Given the description of an element on the screen output the (x, y) to click on. 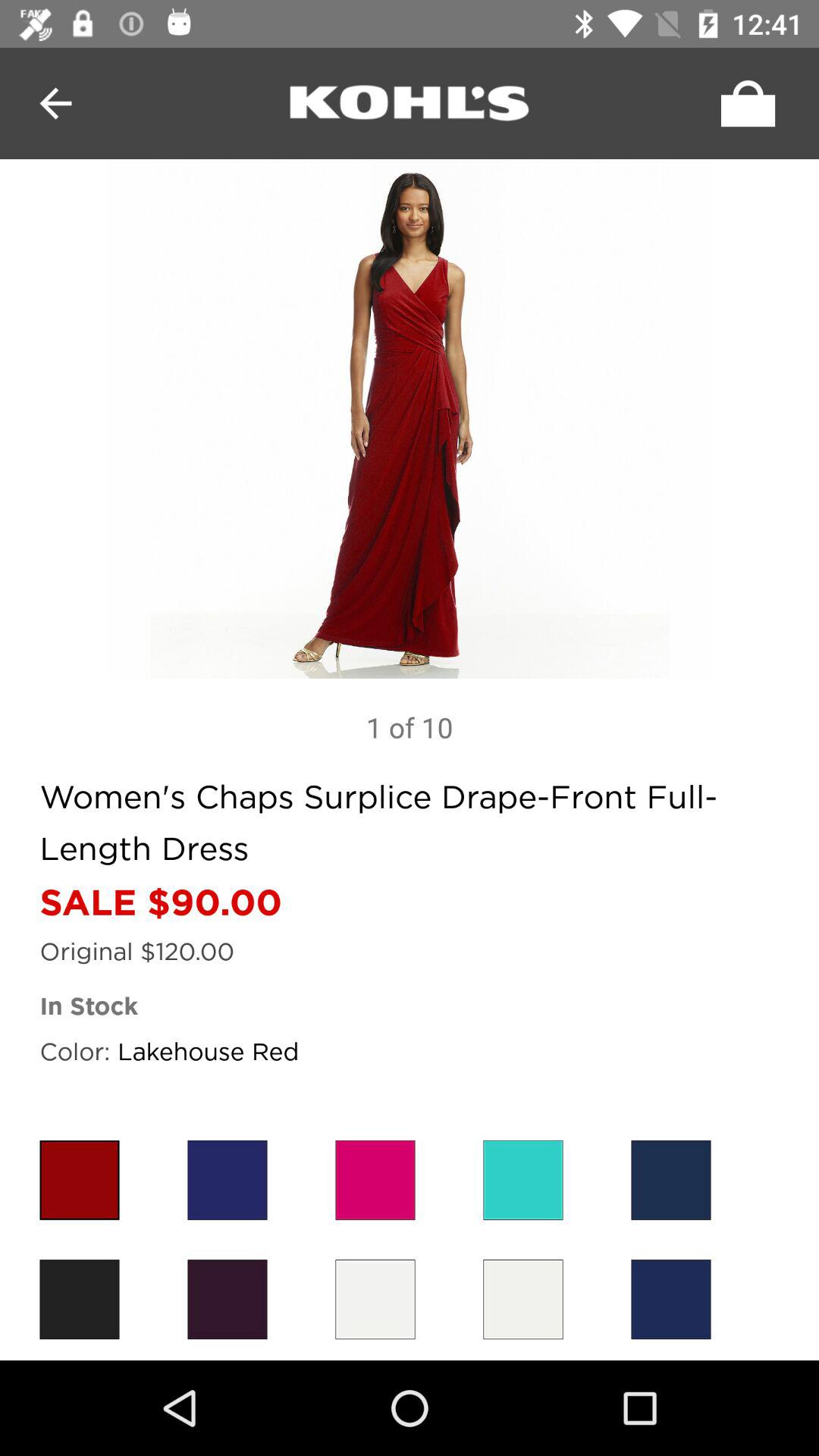
select blue color (670, 1179)
